Given the description of an element on the screen output the (x, y) to click on. 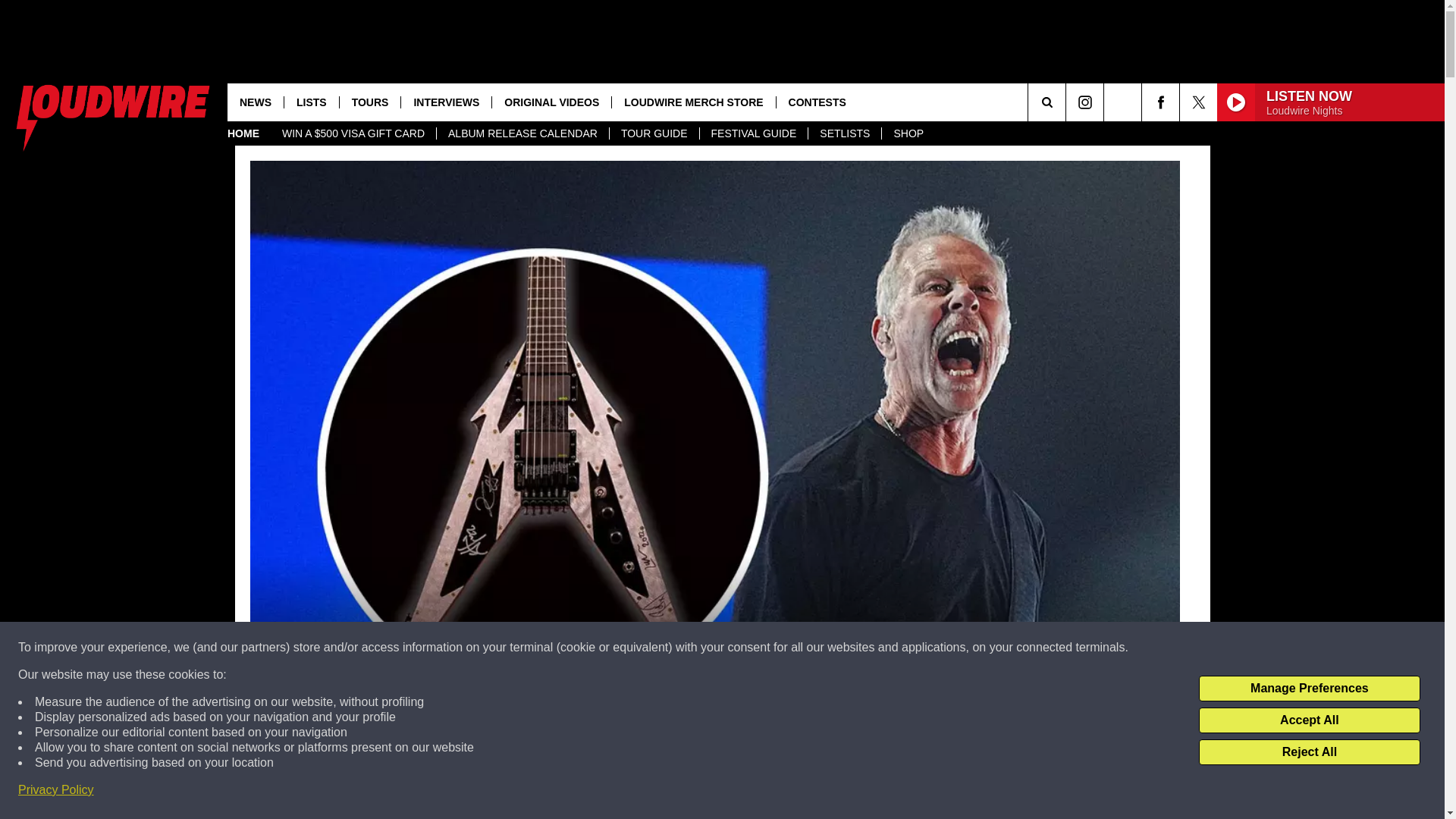
Reject All (1309, 751)
TOUR GUIDE (653, 133)
SETLISTS (844, 133)
ALBUM RELEASE CALENDAR (521, 133)
Chad Childers (334, 705)
CONTESTS (817, 102)
NEWS (255, 102)
FESTIVAL GUIDE (753, 133)
TWEET (912, 791)
SHARE (517, 791)
SHOP (907, 133)
LISTS (311, 102)
Visit us on Twitter (1198, 102)
ORIGINAL VIDEOS (551, 102)
Visit us on Instagram (1084, 102)
